Given the description of an element on the screen output the (x, y) to click on. 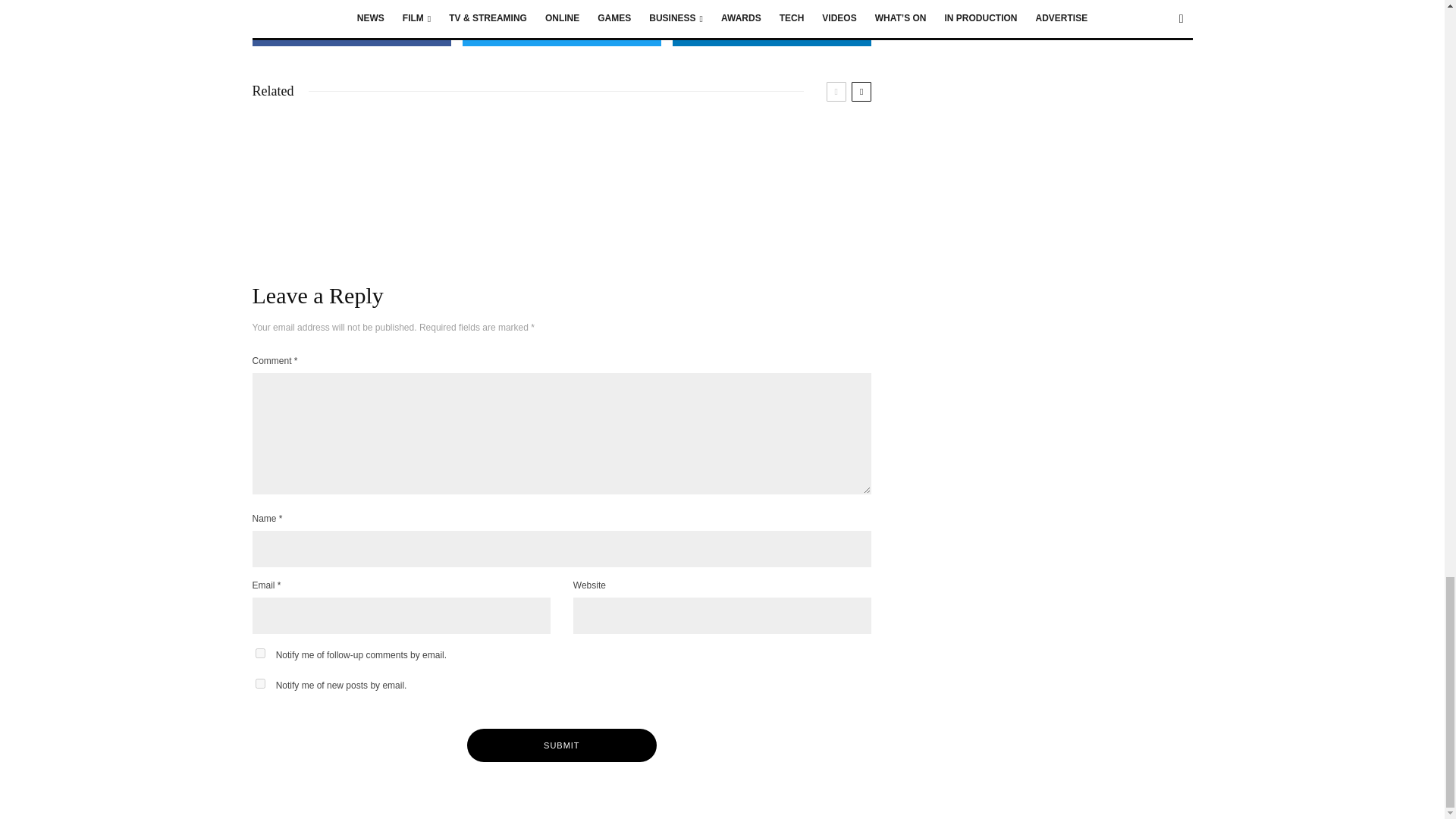
Submit (561, 745)
subscribe (259, 683)
subscribe (259, 653)
